Given the description of an element on the screen output the (x, y) to click on. 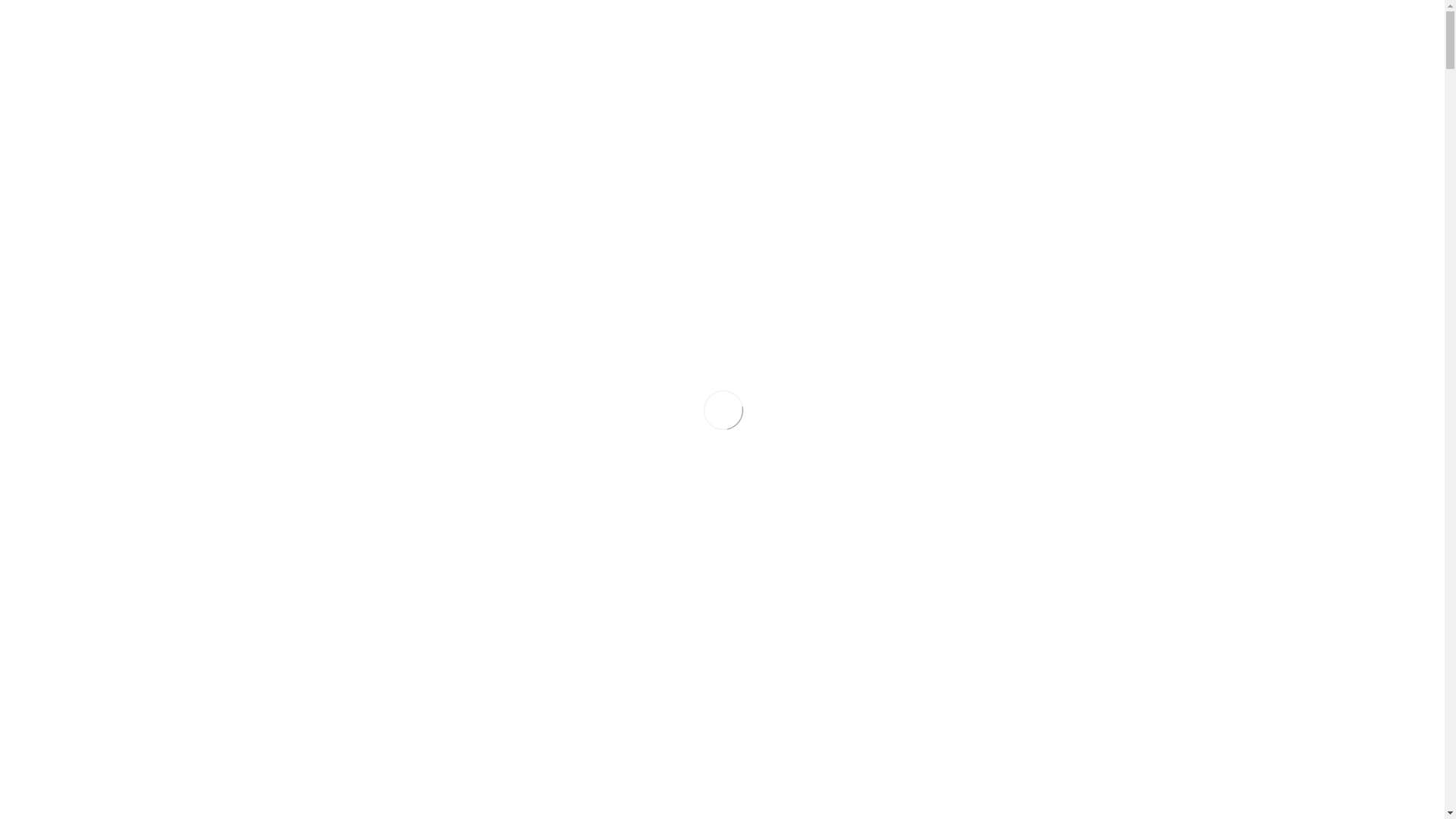
Qurumlar Element type: text (1162, 114)
RUS Element type: text (1378, 71)
Nazirliyin strukturu Element type: text (1162, 142)
ENG Element type: text (1378, 55)
AZE Element type: text (1378, 39)
